Given the description of an element on the screen output the (x, y) to click on. 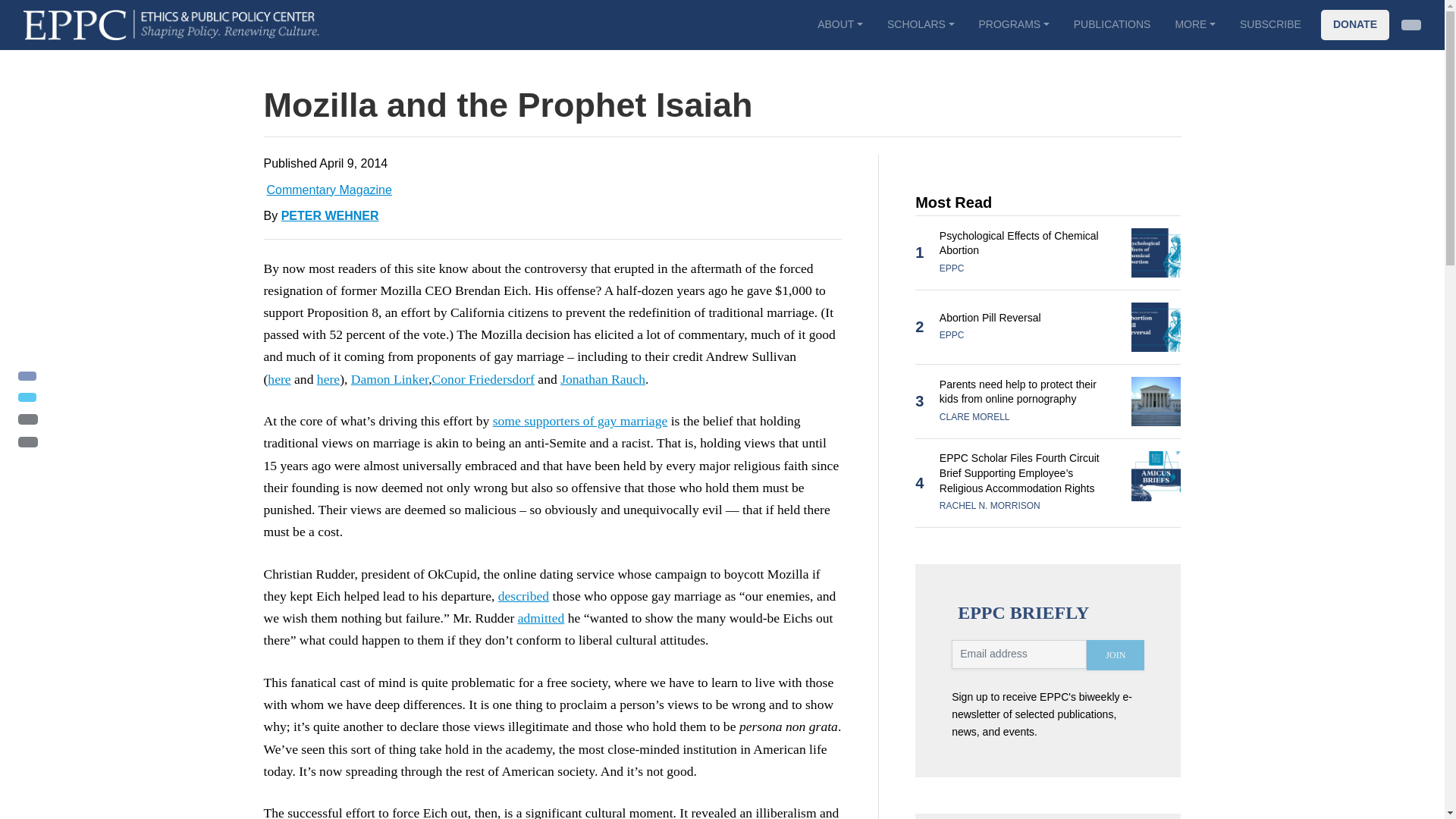
JOIN (1115, 654)
SCHOLARS (920, 24)
ABOUT (840, 24)
